Given the description of an element on the screen output the (x, y) to click on. 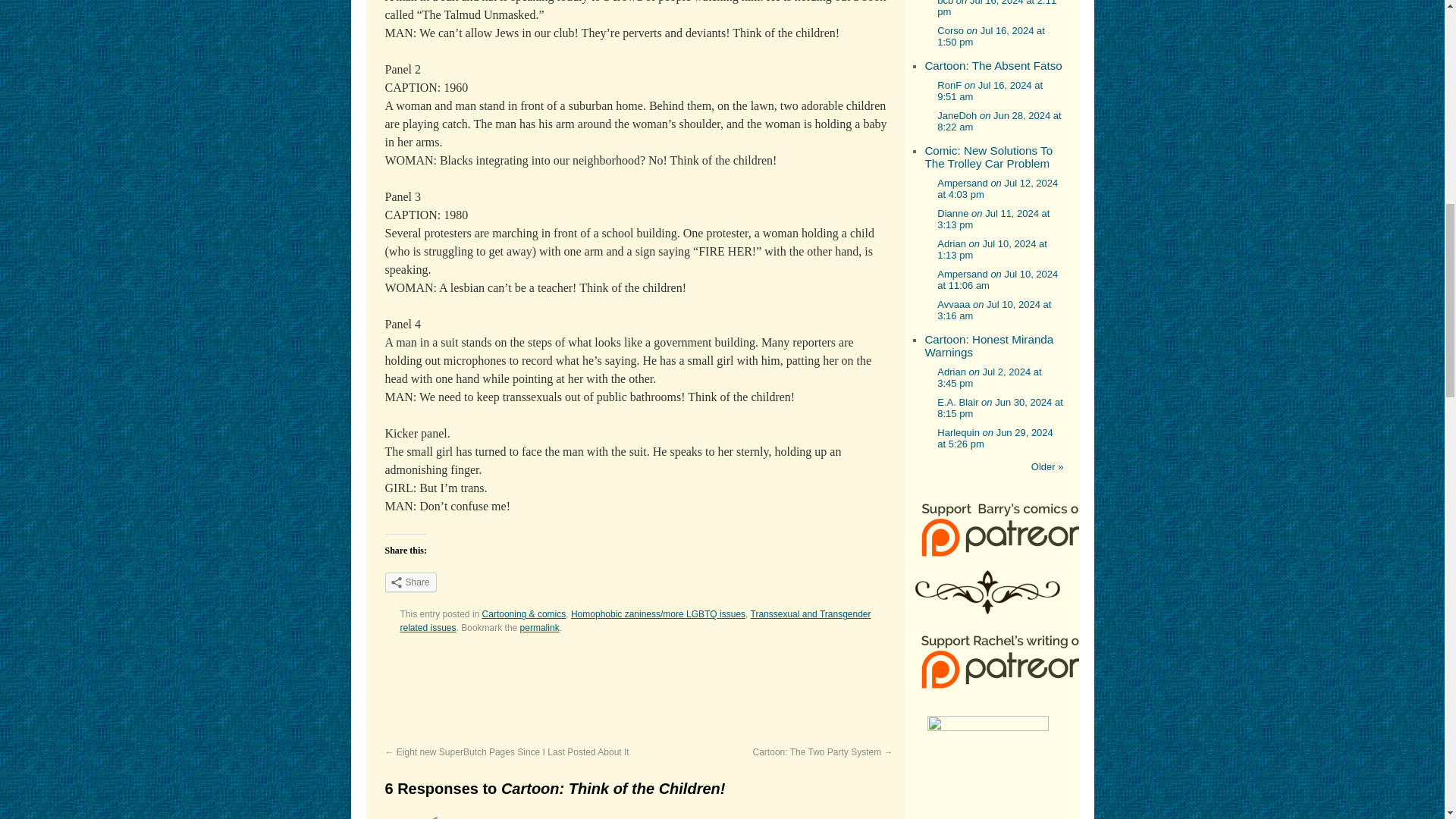
Share (410, 582)
Transsexual and Transgender related issues (635, 621)
permalink (539, 627)
Permalink to Cartoon: Think of the Children! (539, 627)
